Given the description of an element on the screen output the (x, y) to click on. 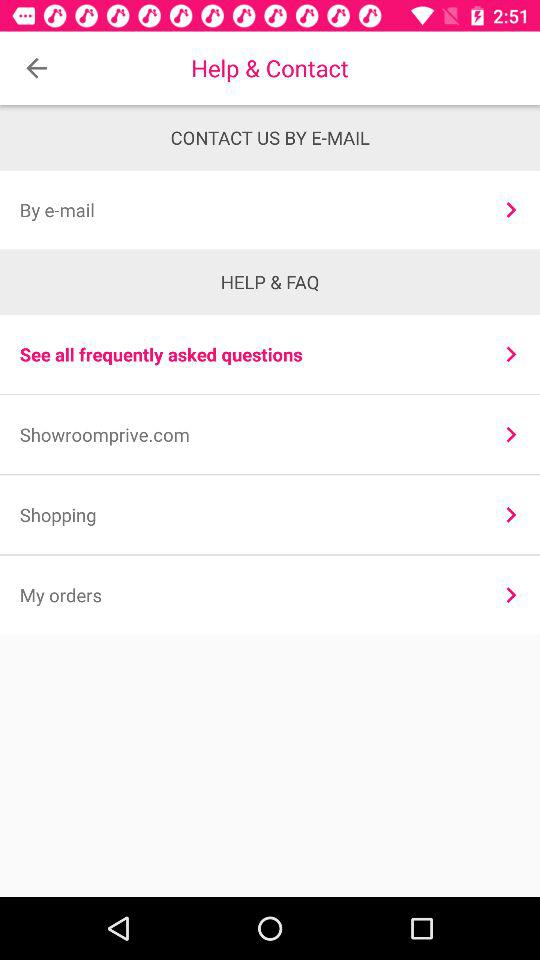
open icon next to the showroomprive.com item (510, 434)
